Given the description of an element on the screen output the (x, y) to click on. 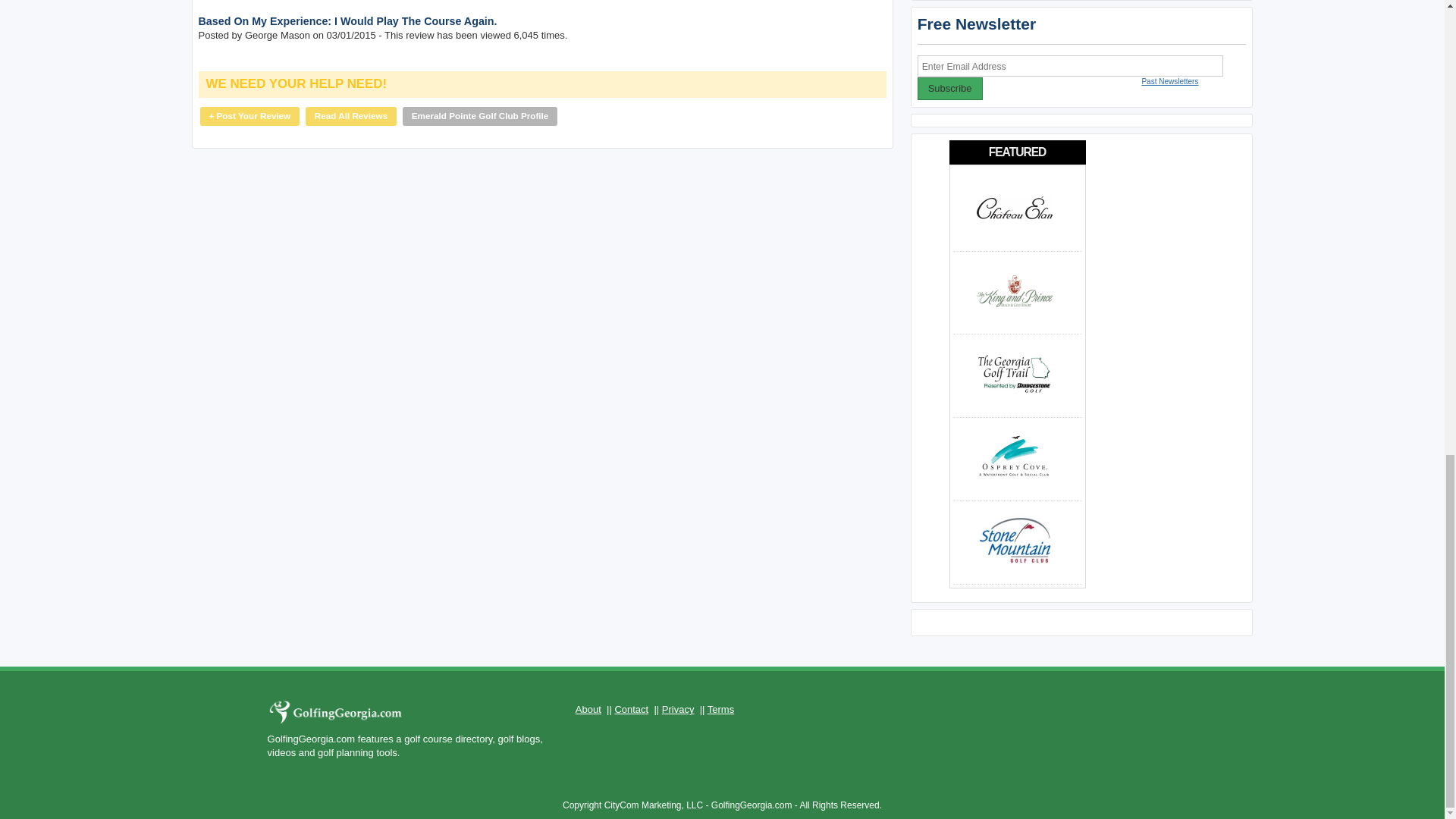
Subscribe (949, 87)
Post Review Emerald Pointe Golf Club (249, 116)
